Given the description of an element on the screen output the (x, y) to click on. 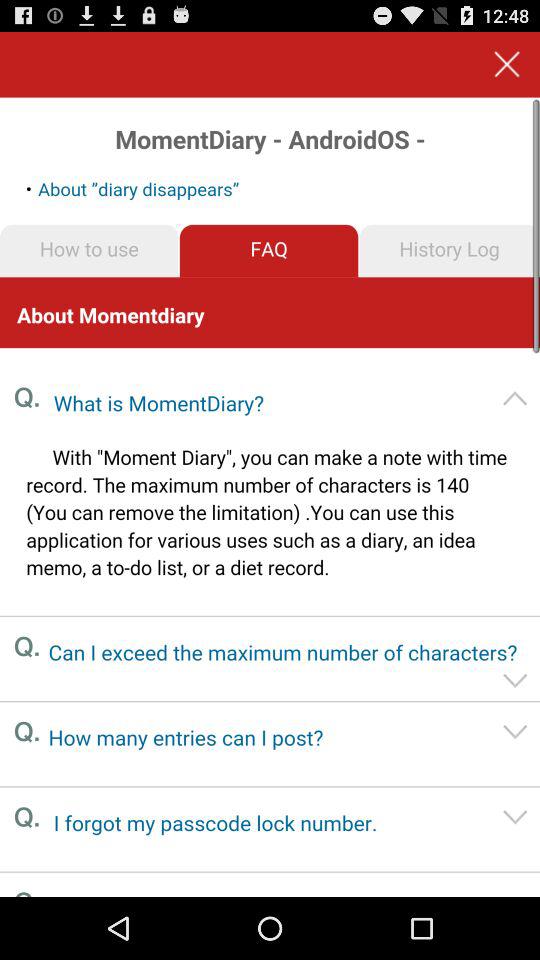
go to cancel (506, 64)
